Given the description of an element on the screen output the (x, y) to click on. 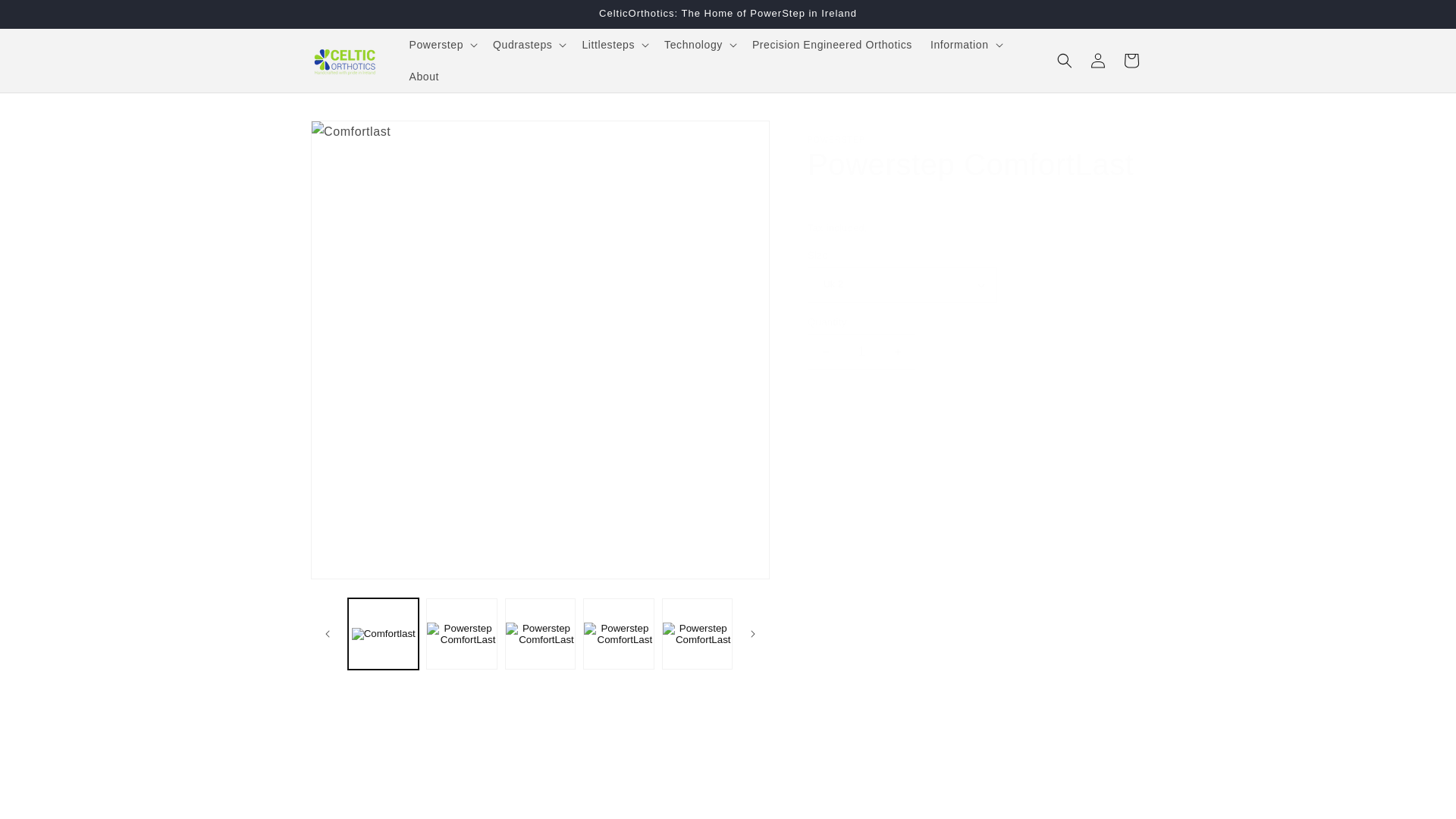
Skip to content (45, 17)
Precision Engineered Orthotics (831, 44)
1 (861, 352)
About (424, 76)
